Given the description of an element on the screen output the (x, y) to click on. 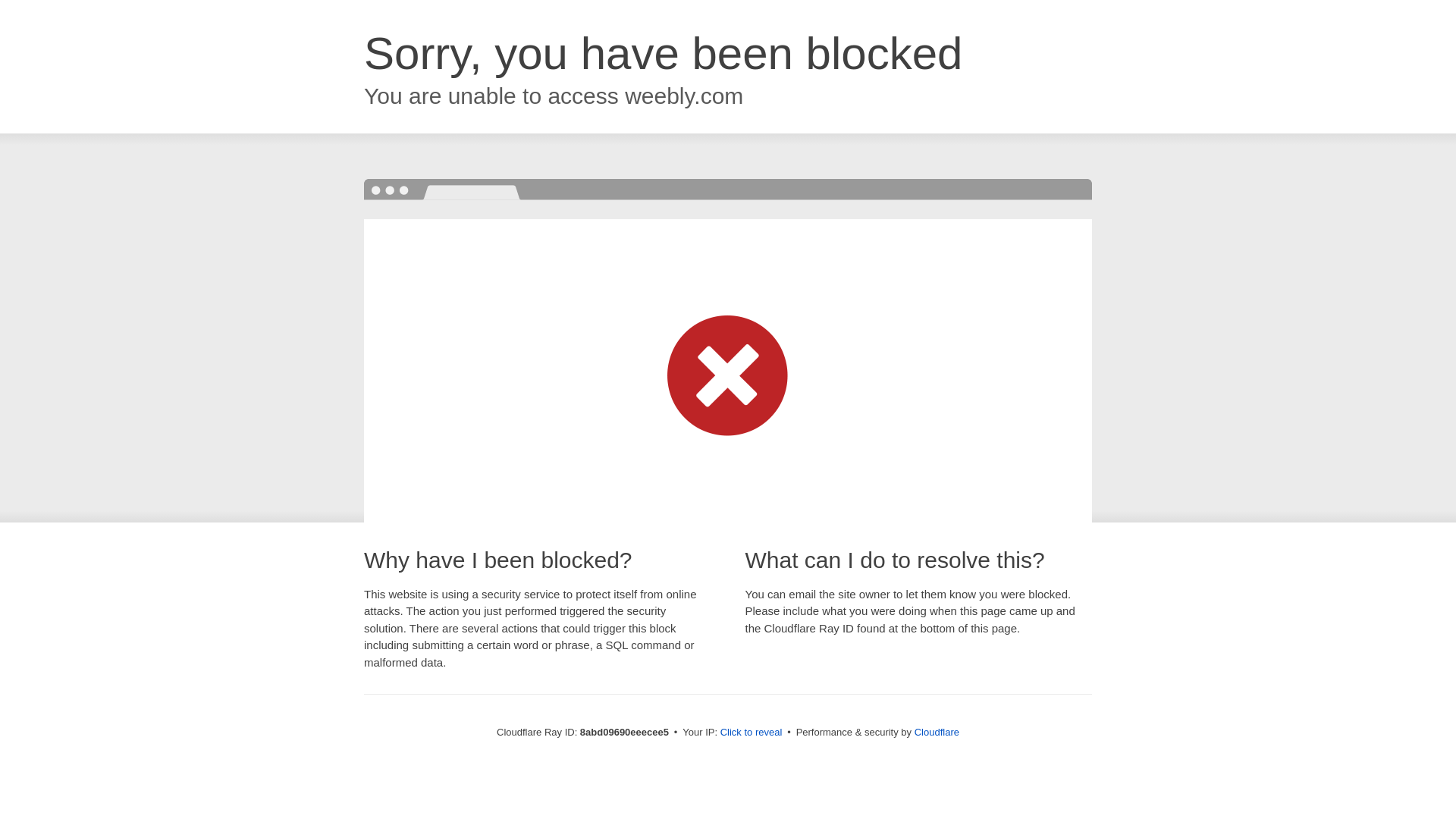
Click to reveal (751, 732)
Cloudflare (936, 731)
